Given the description of an element on the screen output the (x, y) to click on. 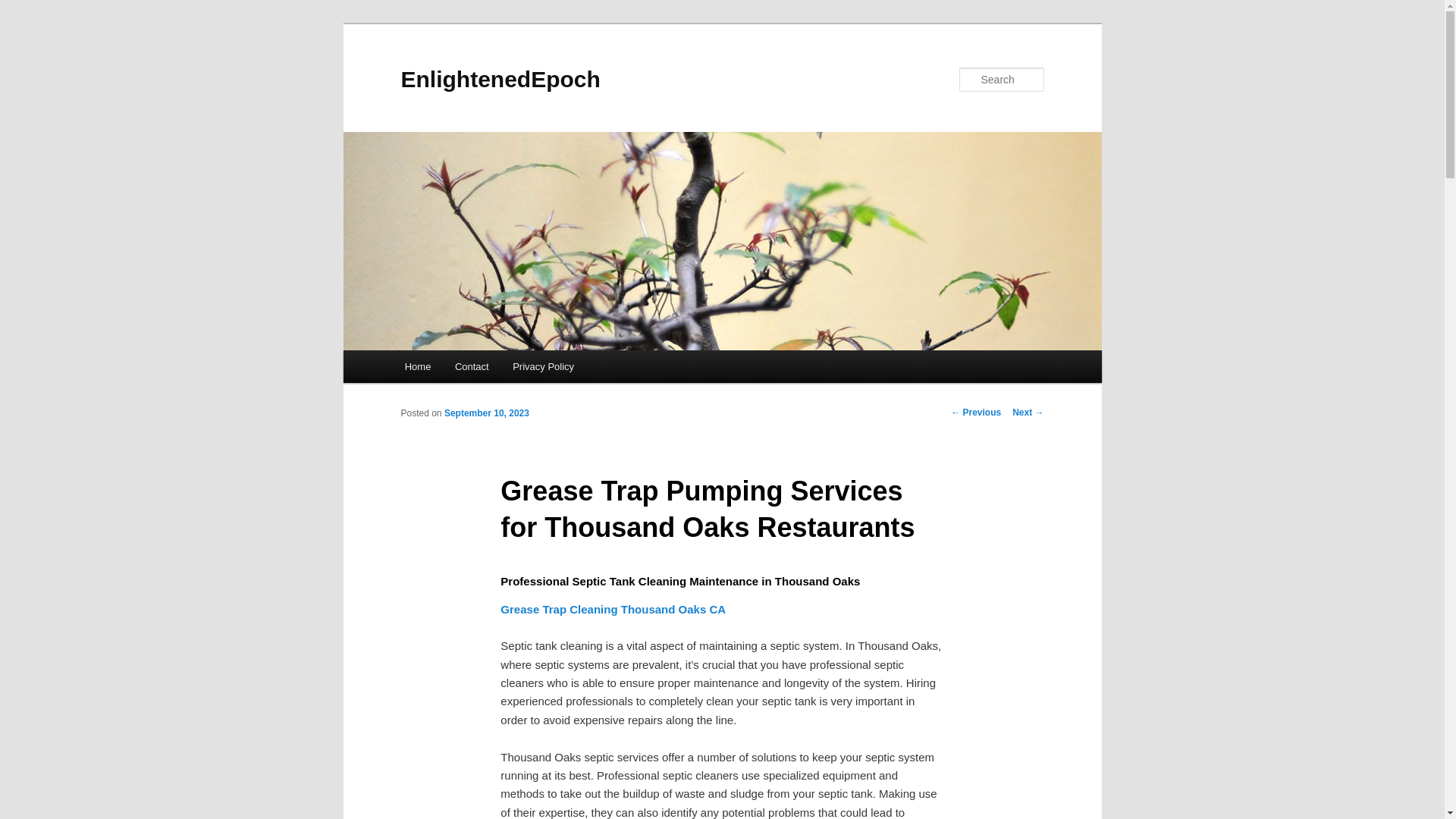
September 10, 2023 (486, 412)
EnlightenedEpoch (499, 78)
Search (24, 8)
12:50 pm (486, 412)
Contact (471, 366)
Privacy Policy (542, 366)
Grease Trap Cleaning Thousand Oaks CA (612, 608)
Home (417, 366)
